Given the description of an element on the screen output the (x, y) to click on. 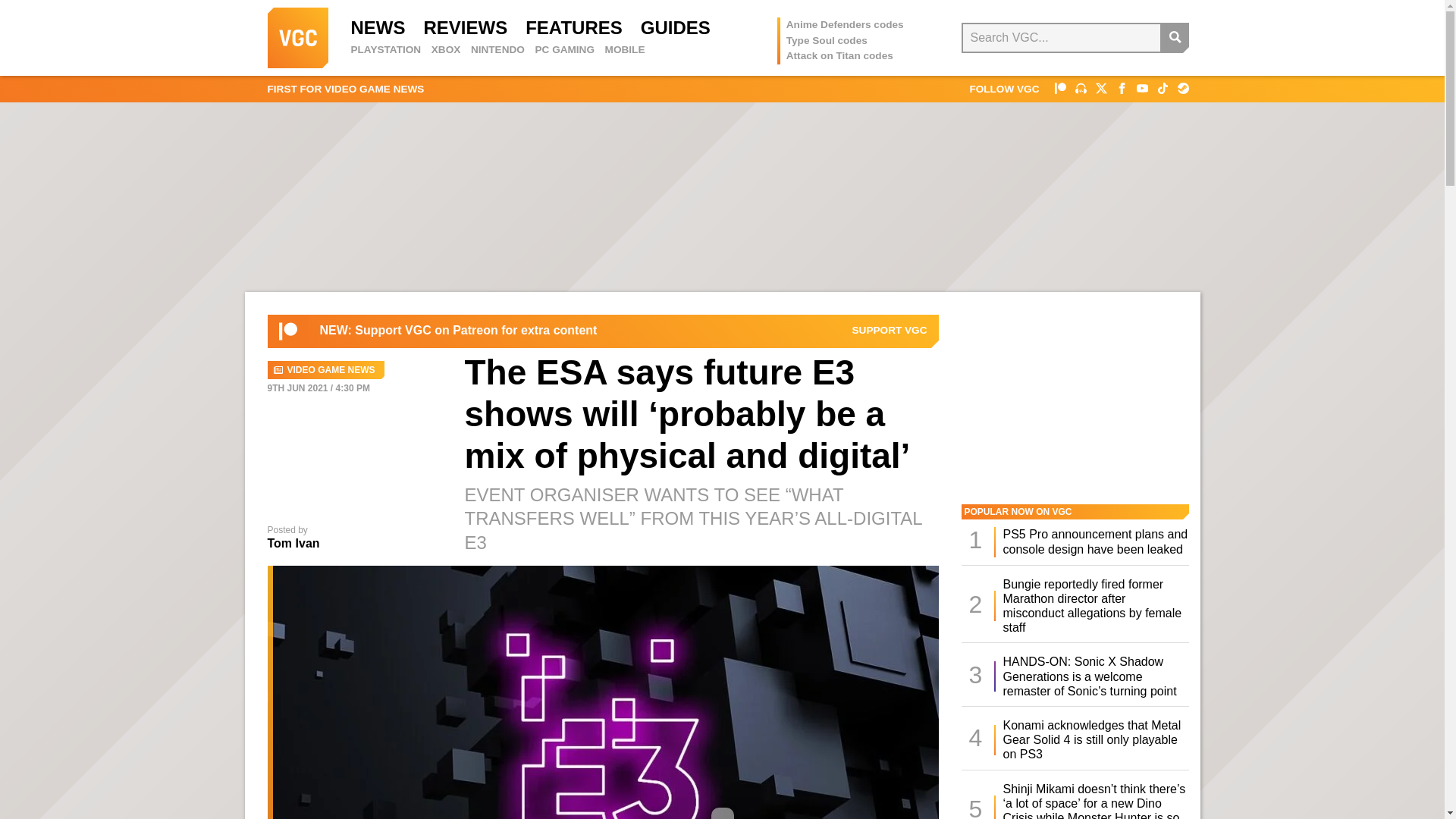
NEW: Support VGC on Patreon for extra content (457, 330)
PC GAMING (564, 49)
Posts by Tom Ivan (292, 543)
PLAYSTATION (385, 49)
FEATURES (574, 27)
MOBILE (625, 49)
VGC (296, 37)
NEWS (377, 27)
VGC on Patreon (889, 330)
XBOX (445, 49)
